Given the description of an element on the screen output the (x, y) to click on. 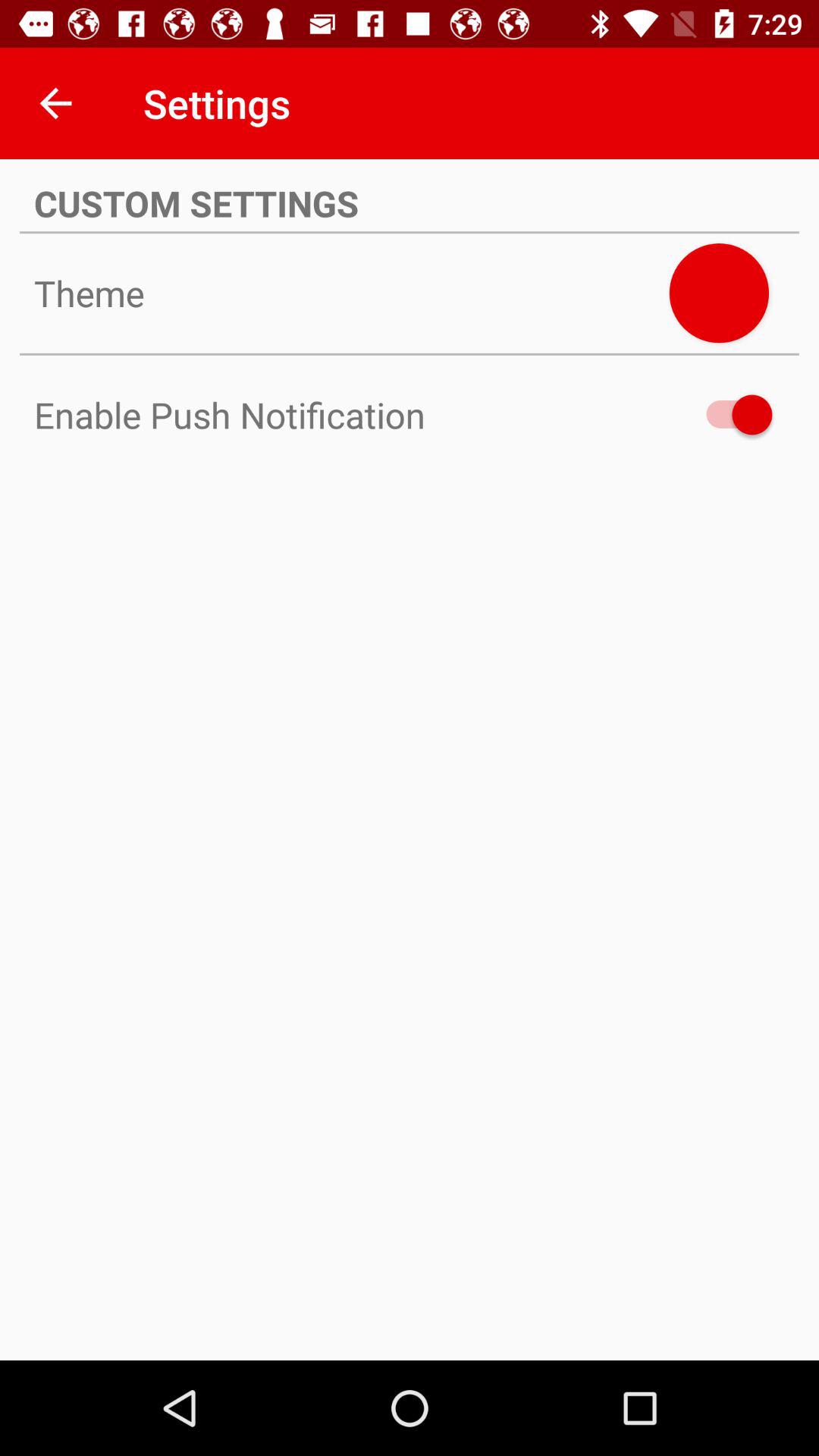
turn on the item to the left of settings (55, 103)
